Given the description of an element on the screen output the (x, y) to click on. 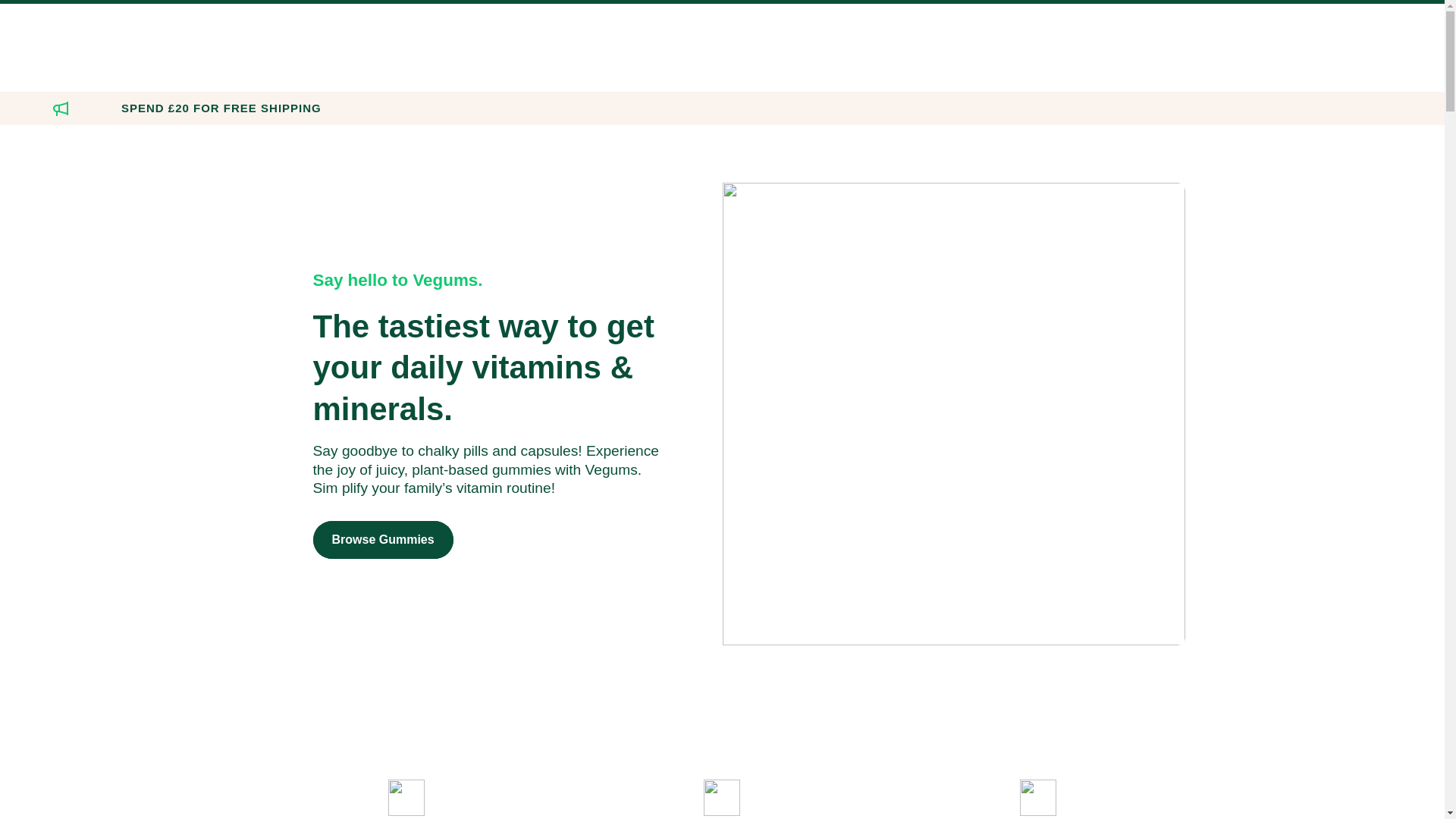
Browse Gummies (382, 539)
